Given the description of an element on the screen output the (x, y) to click on. 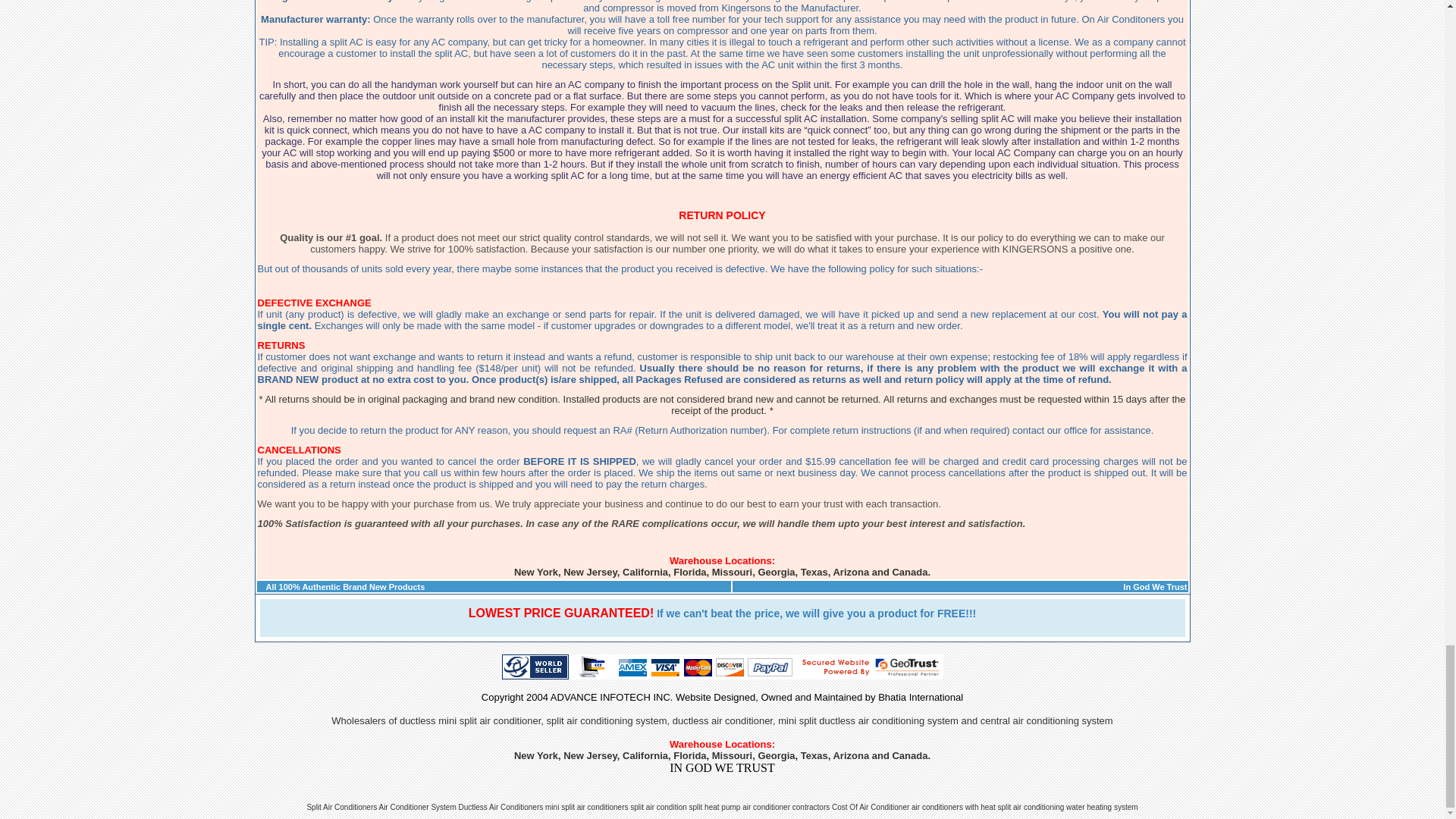
split heat pump (714, 807)
Air Conditioner System (416, 807)
split air condition (659, 807)
water heating system (1101, 807)
air conditioners with heat (953, 807)
split air conditioning (1030, 807)
air conditioner contractors (785, 807)
Split Air Conditioners (341, 807)
Ductless Air Conditioners (500, 807)
mini split air conditioners (586, 807)
Cost Of Air Conditioner (869, 807)
